Given the description of an element on the screen output the (x, y) to click on. 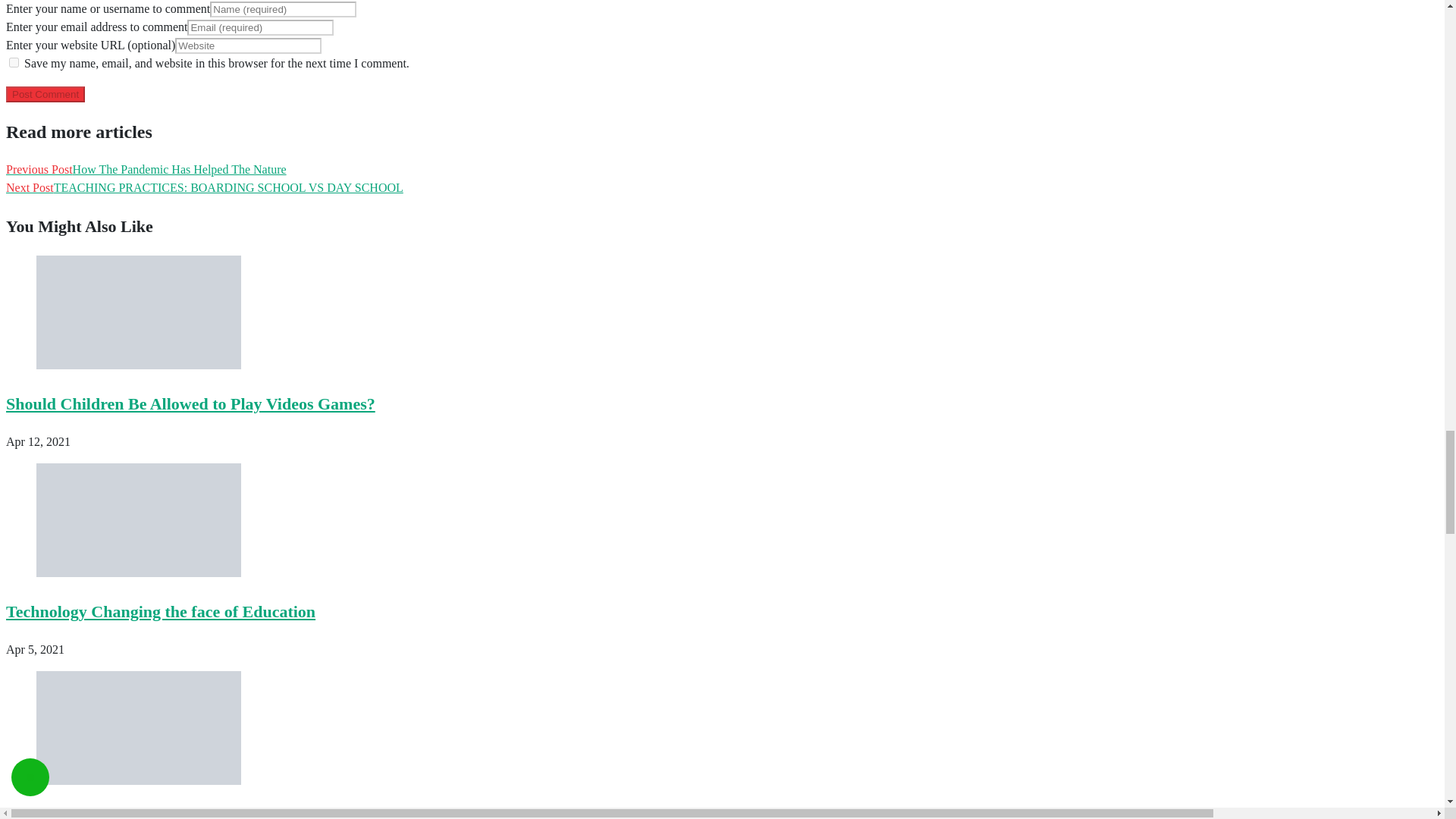
Post Comment (44, 94)
yes (13, 62)
